Given the description of an element on the screen output the (x, y) to click on. 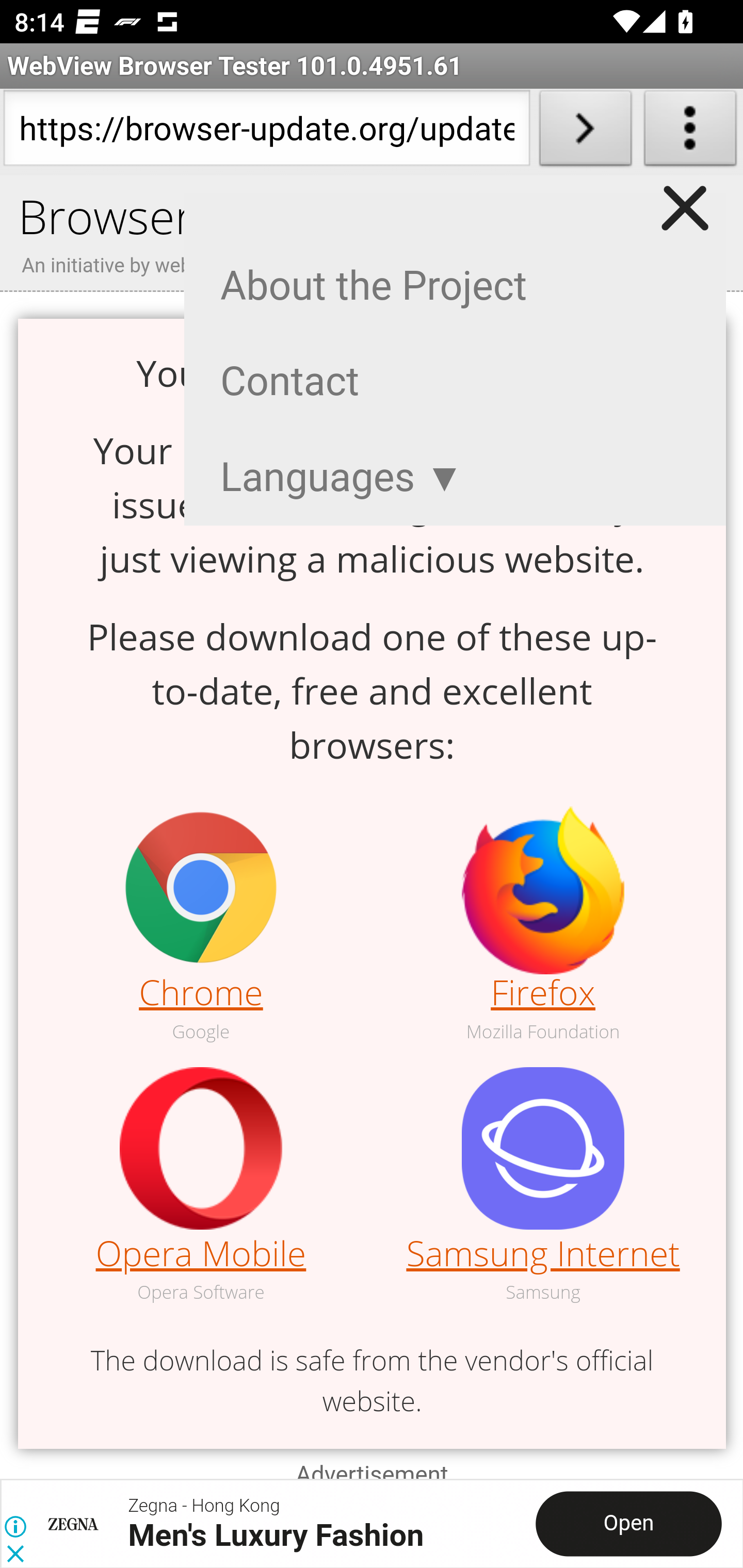
Load URL (585, 132)
About WebView (690, 132)
About the Project (373, 285)
Contact (290, 381)
Chrome Google Chrome Google (201, 926)
Samsung Internet Samsung Samsung Internet Samsung (543, 1186)
